Given the description of an element on the screen output the (x, y) to click on. 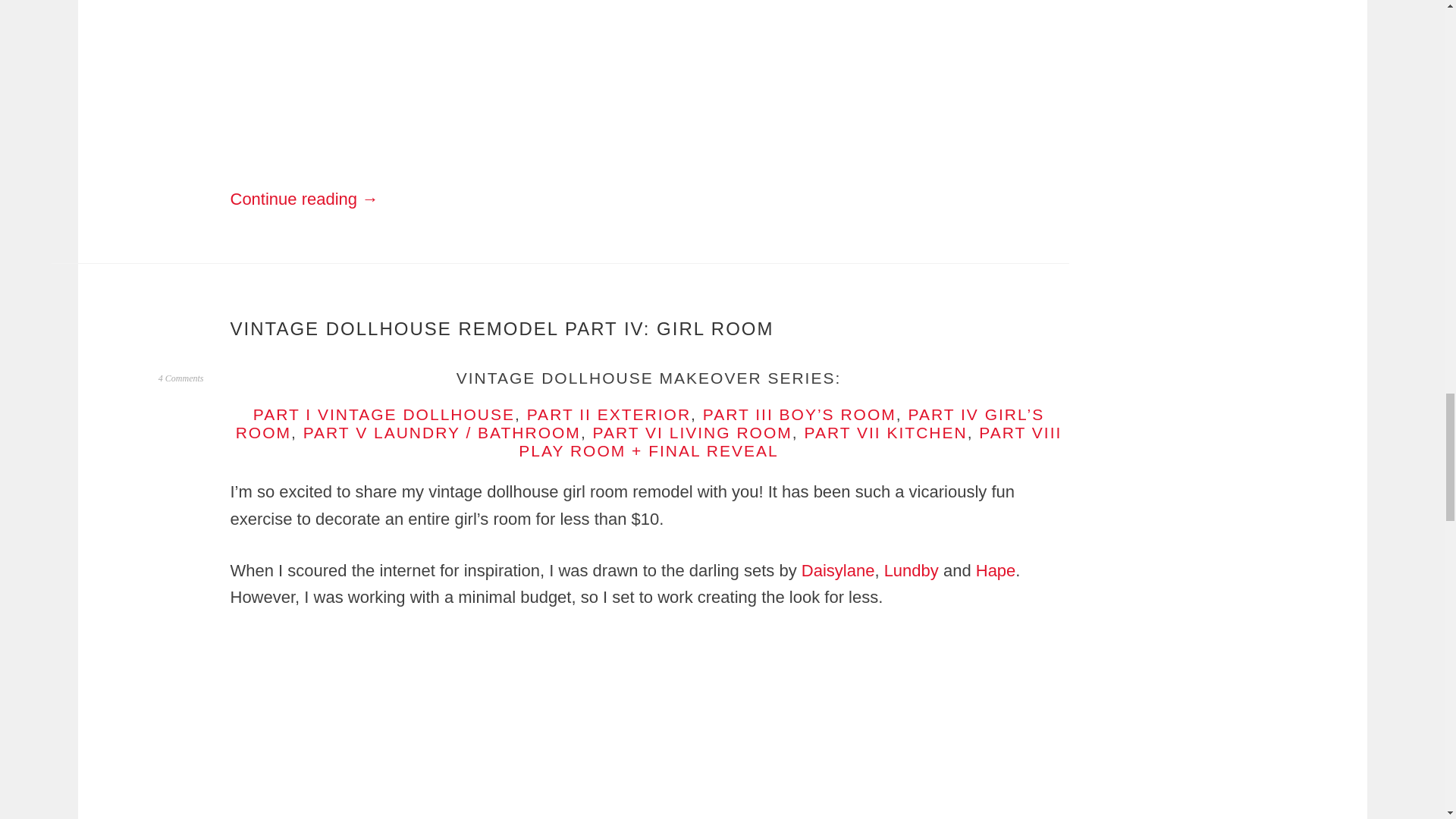
PART VI LIVING ROOM (692, 432)
4 Comments (180, 378)
PART I VINTAGE DOLLHOUSE (384, 414)
VINTAGE DOLLHOUSE REMODEL PART IV: GIRL ROOM (502, 328)
PART VII KITCHEN (884, 432)
PART II EXTERIOR (608, 414)
